Given the description of an element on the screen output the (x, y) to click on. 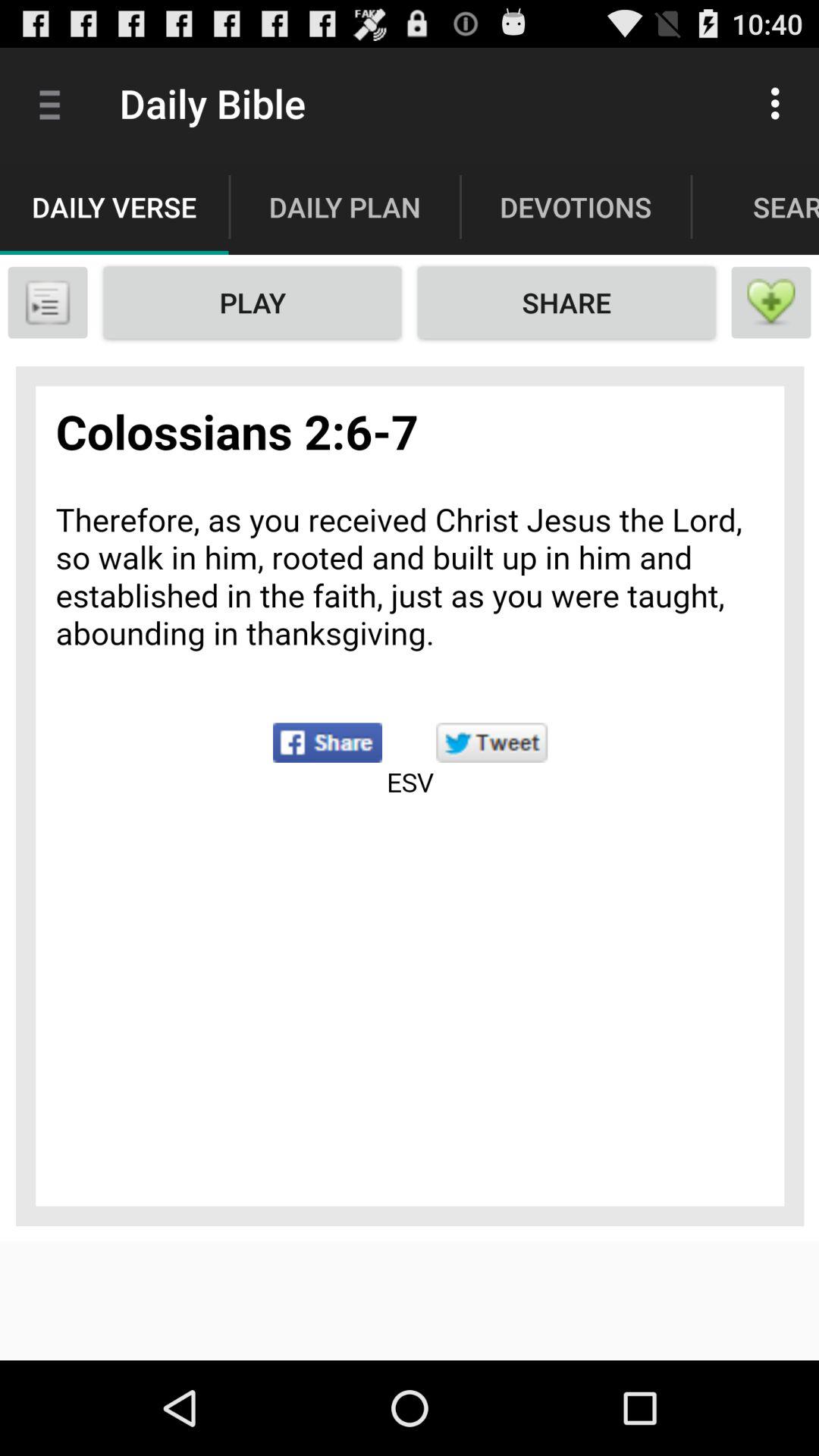
share tweet watch screen (409, 795)
